Given the description of an element on the screen output the (x, y) to click on. 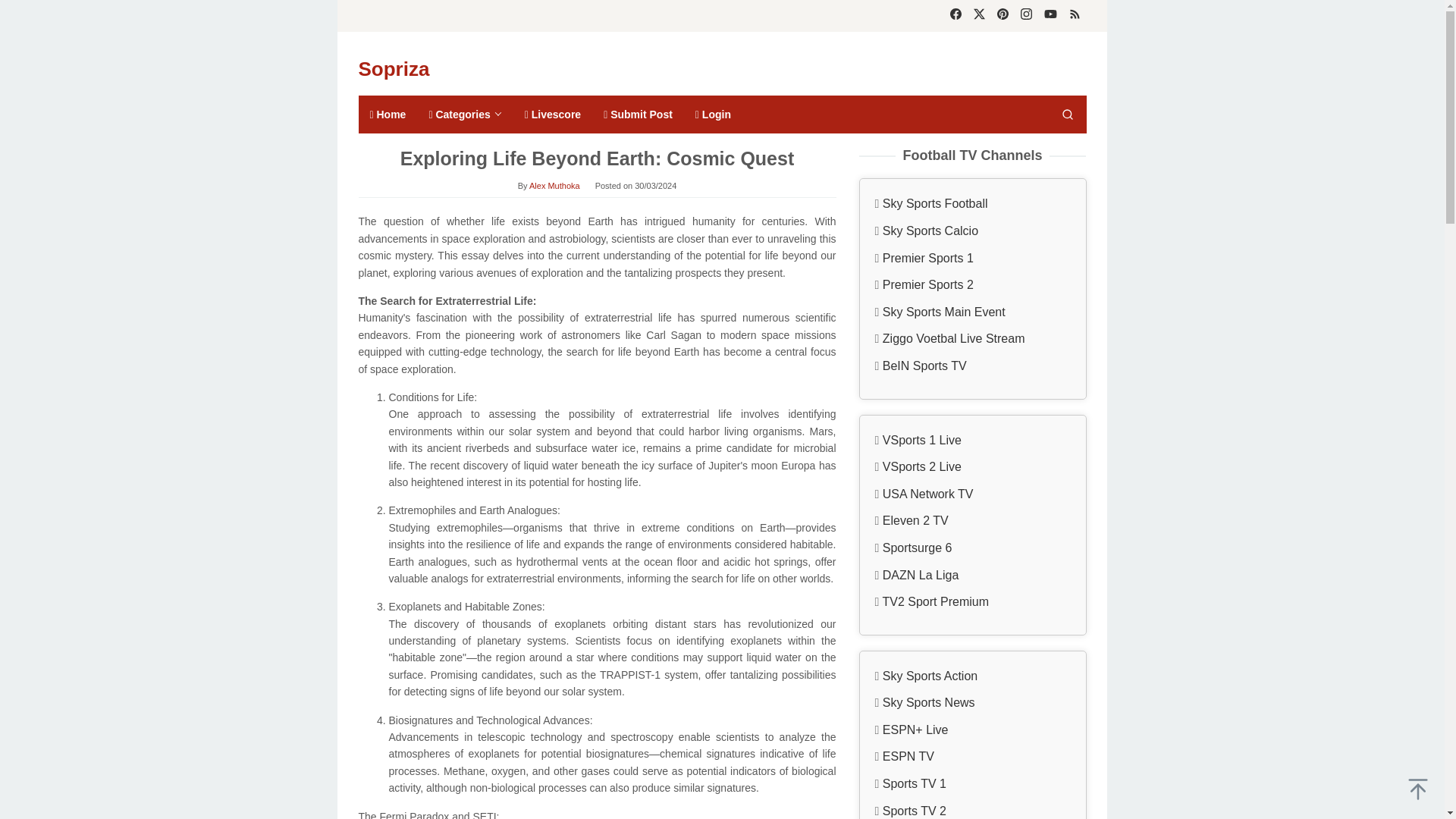
Alex Muthoka (554, 185)
Permalink to: Alex Muthoka (554, 185)
Sky Sports Football (935, 203)
Sky Sports Football (935, 203)
Sopriza (393, 68)
Sopriza (393, 68)
Premier Sports 2 (928, 284)
Search (1067, 114)
Premier Sports 1 (928, 257)
